Given the description of an element on the screen output the (x, y) to click on. 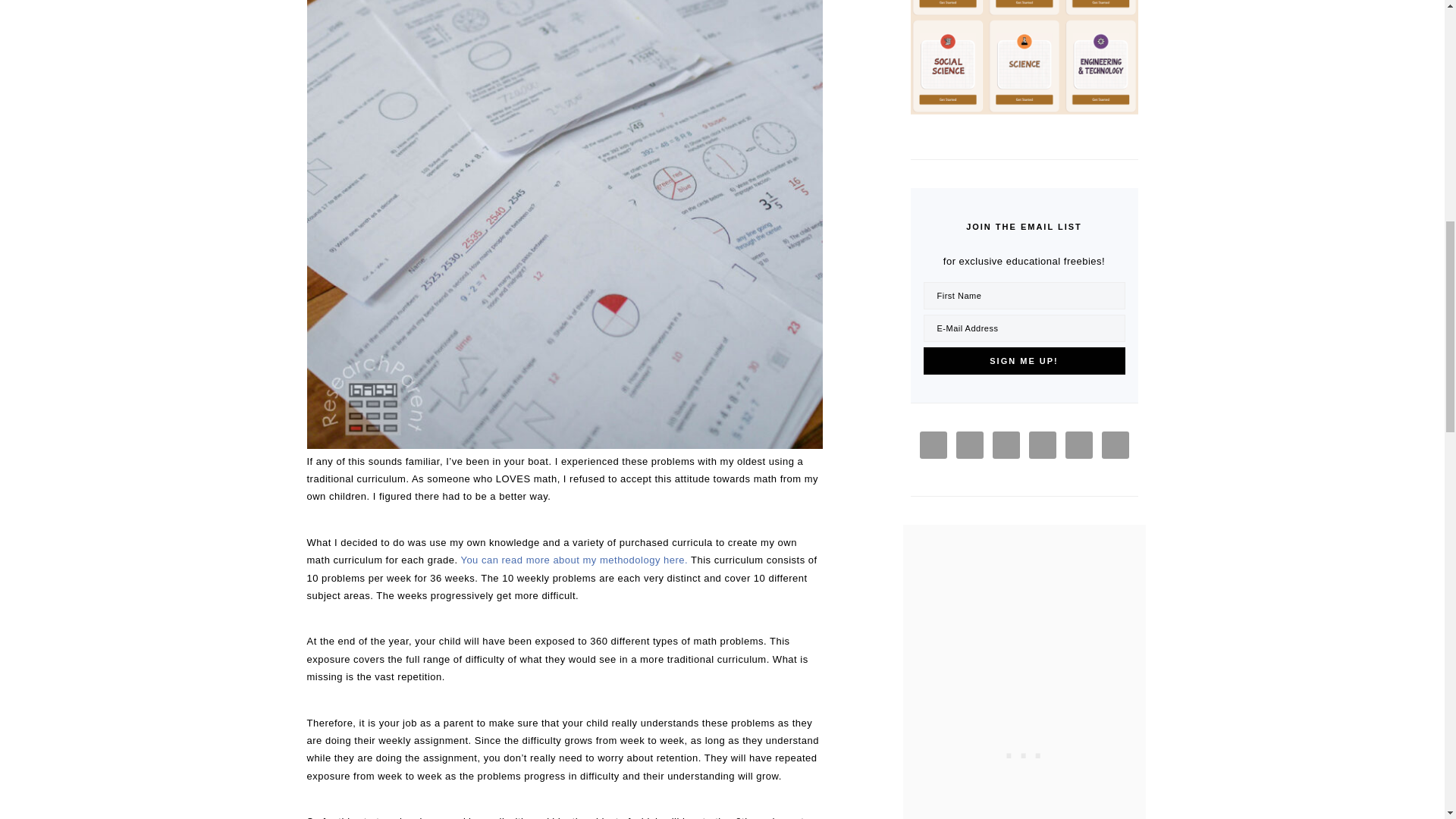
Sign Me Up! (1024, 360)
